Given the description of an element on the screen output the (x, y) to click on. 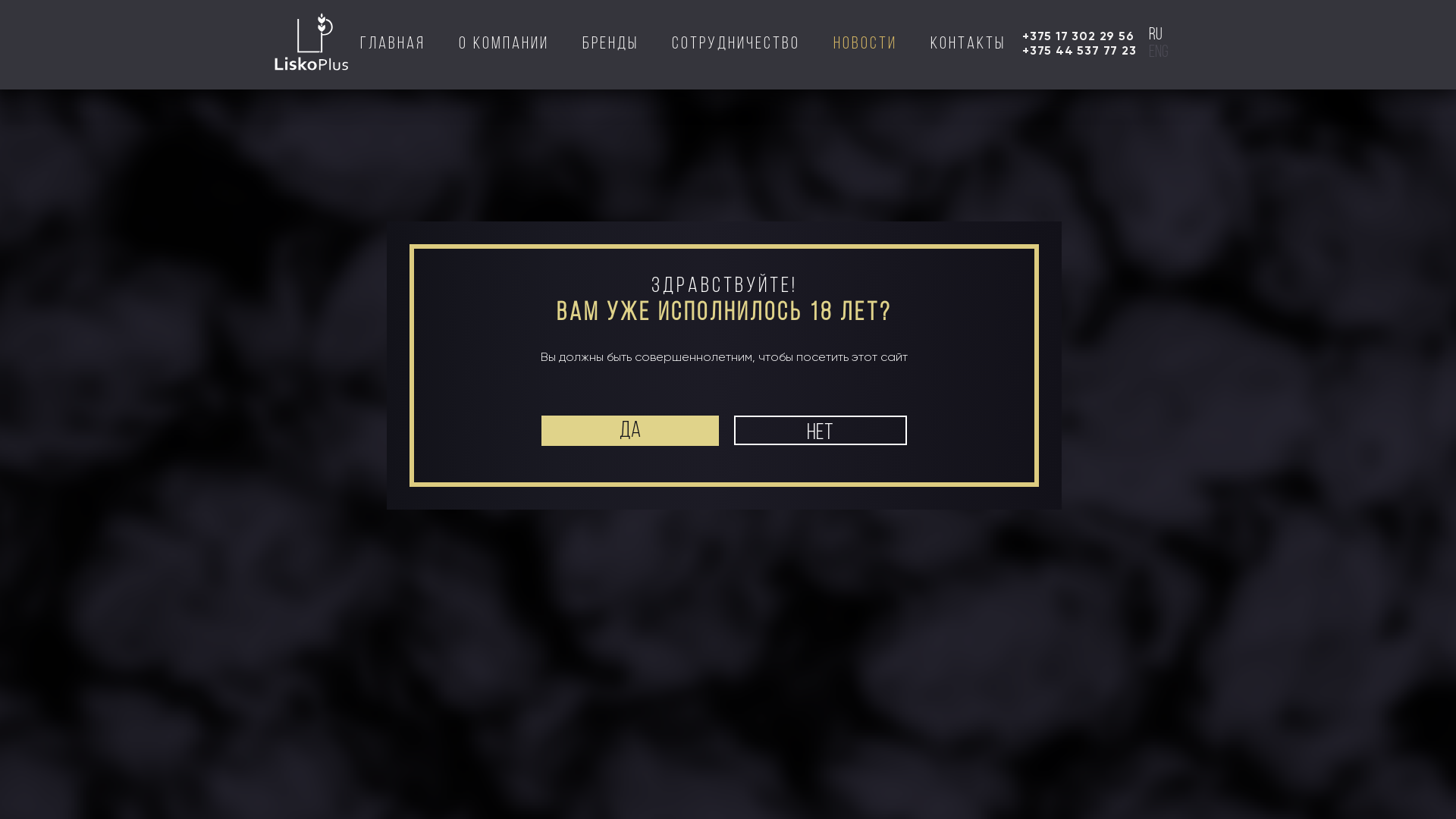
+375 44 537 77 23 Element type: text (1079, 50)
ENG Element type: text (1158, 52)
ENG Element type: text (1336, 60)
RU Element type: text (1155, 34)
RU Element type: text (1313, 60)
+375 17 302 29 56 Element type: text (1078, 35)
